Given the description of an element on the screen output the (x, y) to click on. 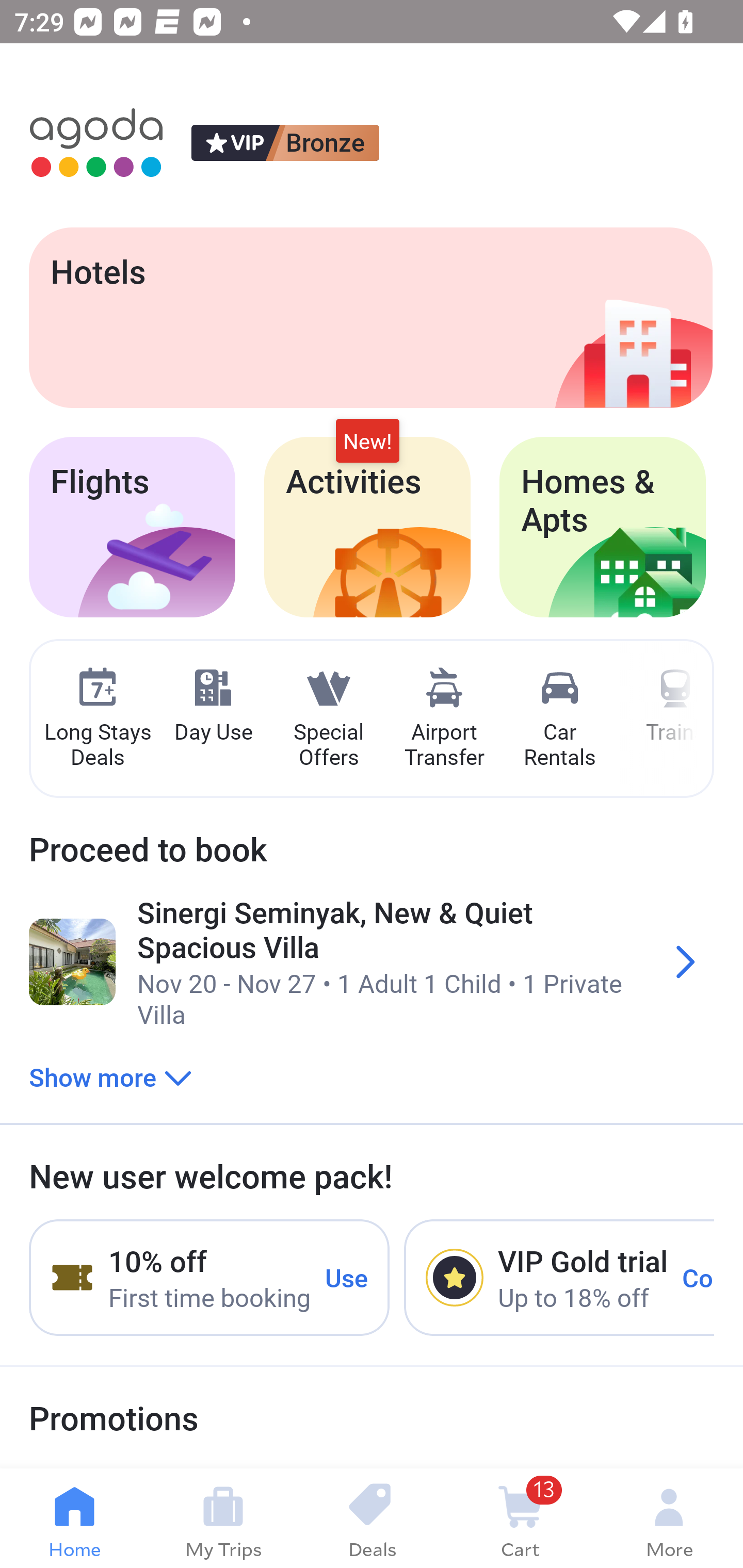
Hotels (370, 317)
New! (367, 441)
Flights (131, 527)
Activities (367, 527)
Homes & Apts (602, 527)
Day Use (213, 706)
Long Stays Deals (97, 718)
Special Offers (328, 718)
Airport Transfer (444, 718)
Car Rentals (559, 718)
Show more (110, 1076)
Use (346, 1277)
Home (74, 1518)
My Trips (222, 1518)
Deals (371, 1518)
13 Cart (519, 1518)
More (668, 1518)
